Given the description of an element on the screen output the (x, y) to click on. 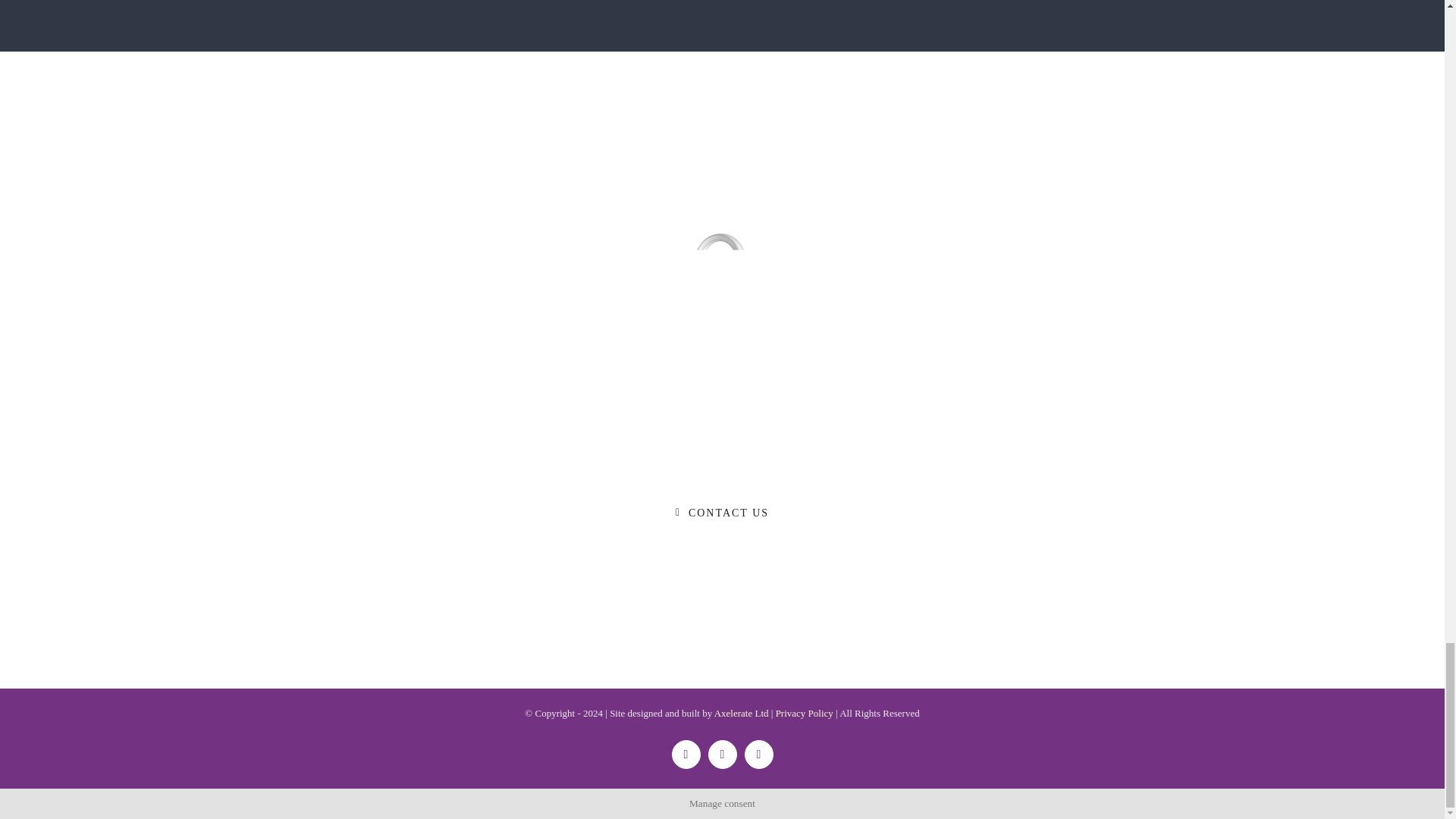
betrothed logo updated transparent bg (721, 282)
X (721, 754)
Facebook (685, 754)
Instagram (758, 754)
Axelerate Ltd (741, 713)
X (721, 754)
CONTACT US (721, 512)
Privacy Policy (804, 713)
Instagram (758, 754)
Facebook (685, 754)
